Given the description of an element on the screen output the (x, y) to click on. 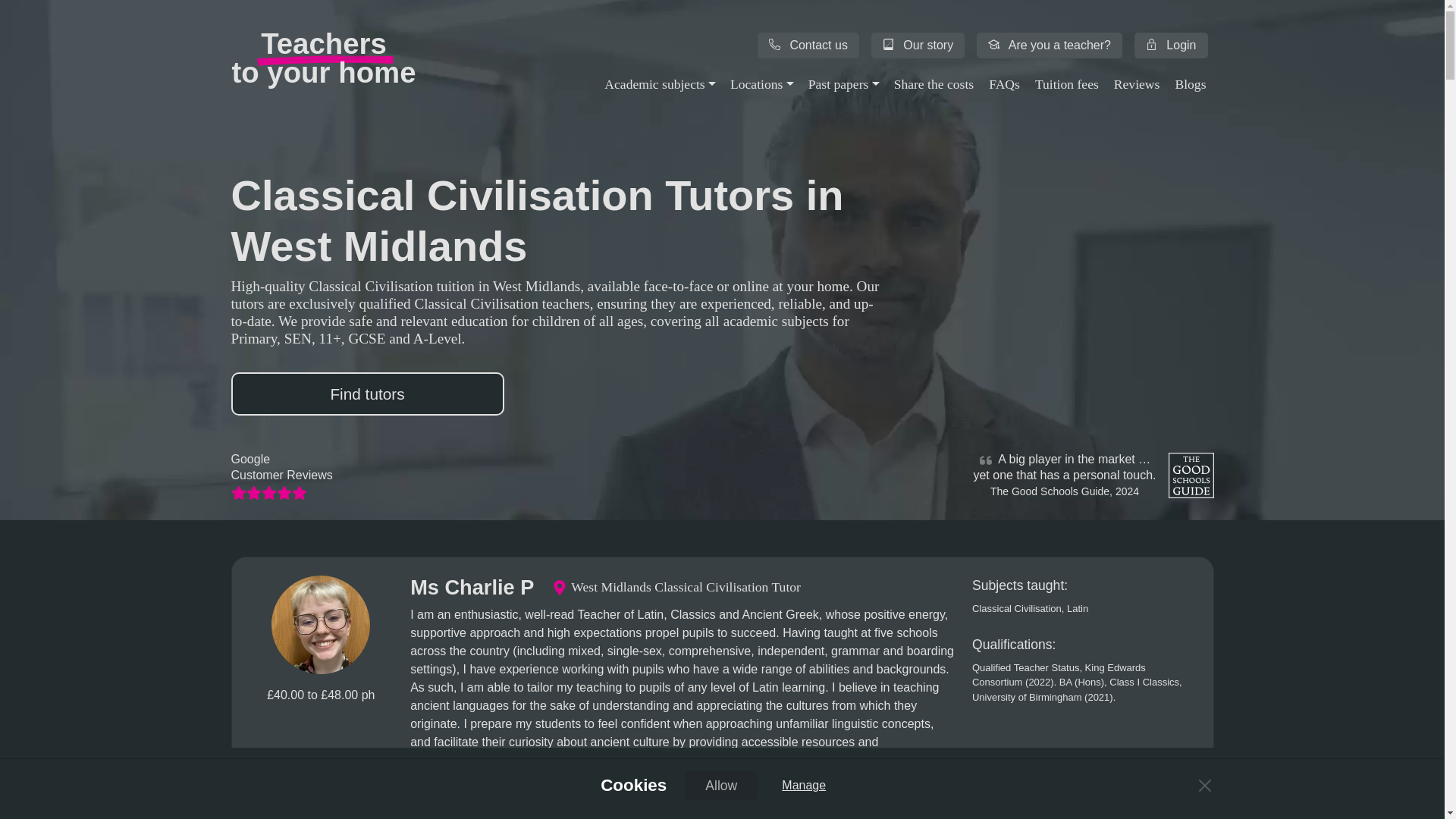
Are you a teacher? (1049, 45)
Login (1171, 45)
Academic subjects (659, 84)
Our story (916, 45)
Contact us (808, 45)
Call 03300 580908 (323, 58)
